Given the description of an element on the screen output the (x, y) to click on. 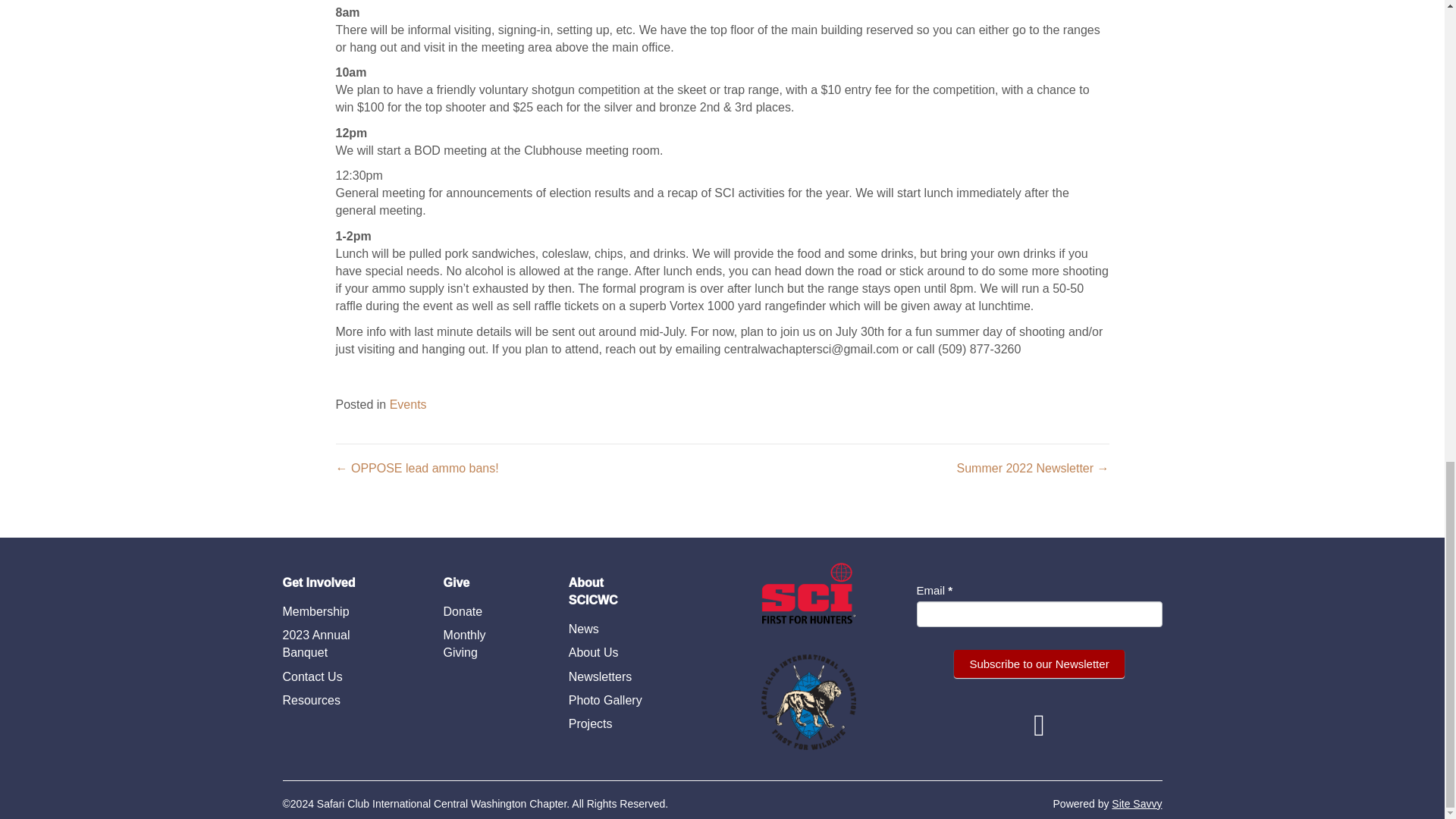
2023 Annual Banquet (339, 643)
Give (457, 588)
About SCICWC (612, 596)
Contact Us (312, 676)
Events (408, 404)
Membership (315, 610)
Photo Gallery (605, 700)
Newsletters (600, 676)
About Us (593, 651)
News (583, 628)
Get Involved (318, 588)
Resources (310, 700)
Subscribe to our Newsletter (1038, 664)
Projects (590, 723)
Monthly Giving (483, 643)
